Given the description of an element on the screen output the (x, y) to click on. 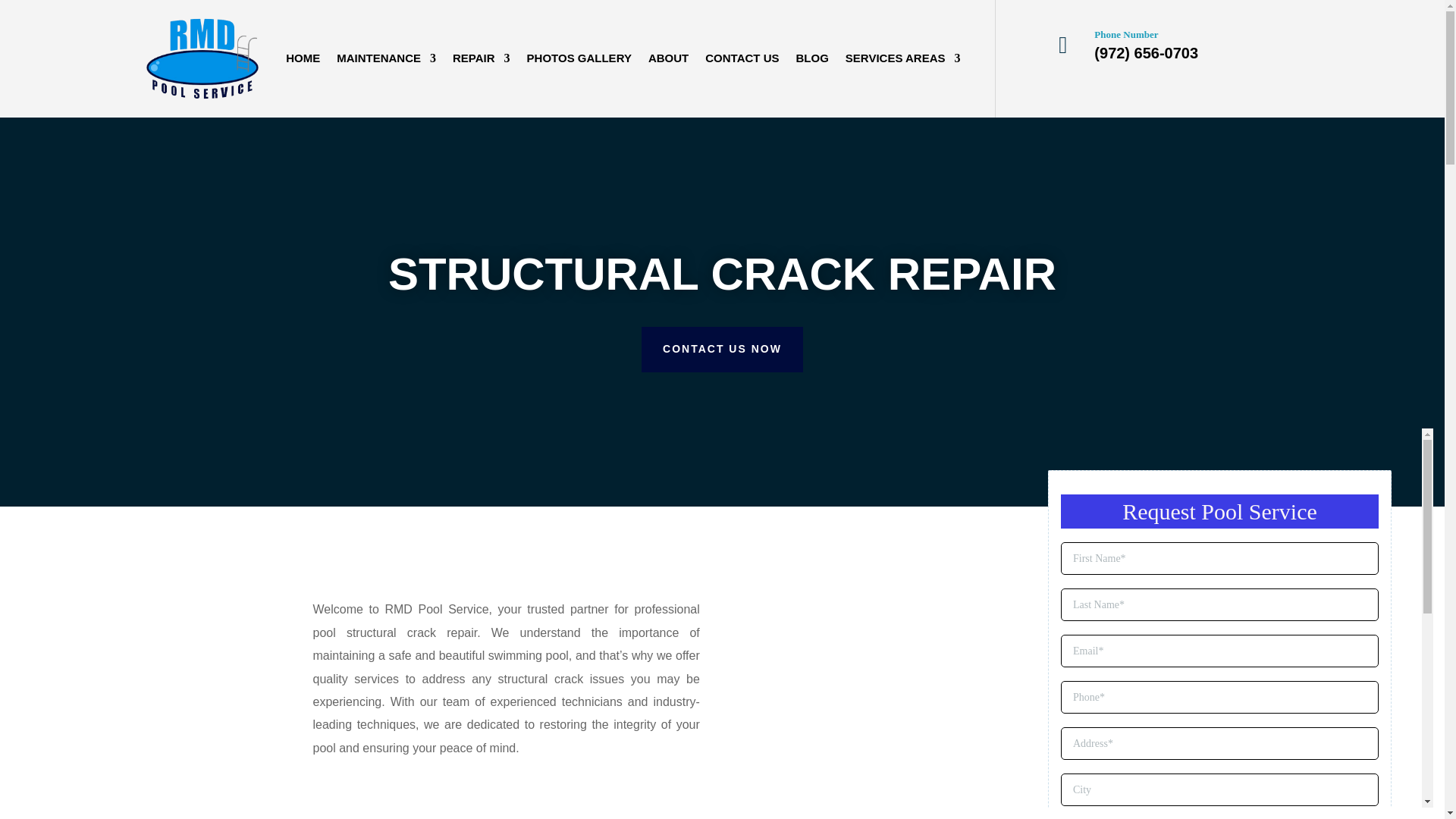
SERVICES AREAS (902, 58)
MAINTENANCE (385, 58)
PHOTOS GALLERY (579, 58)
